Given the description of an element on the screen output the (x, y) to click on. 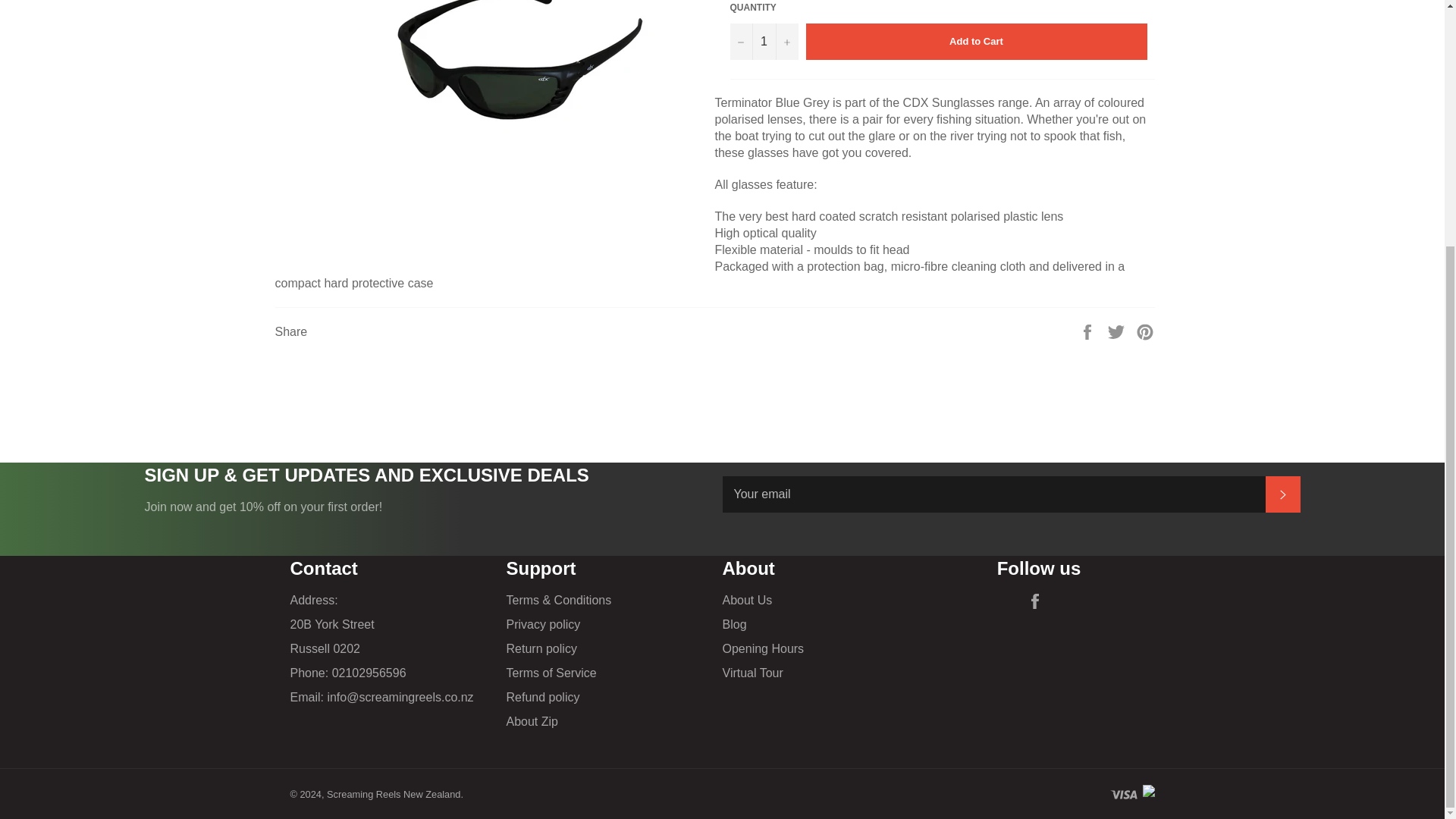
Share on Facebook (1088, 330)
Screaming Reels New Zealand on Facebook (1038, 601)
1 (763, 41)
Tweet on Twitter (1117, 330)
Pin on Pinterest (1144, 330)
